Given the description of an element on the screen output the (x, y) to click on. 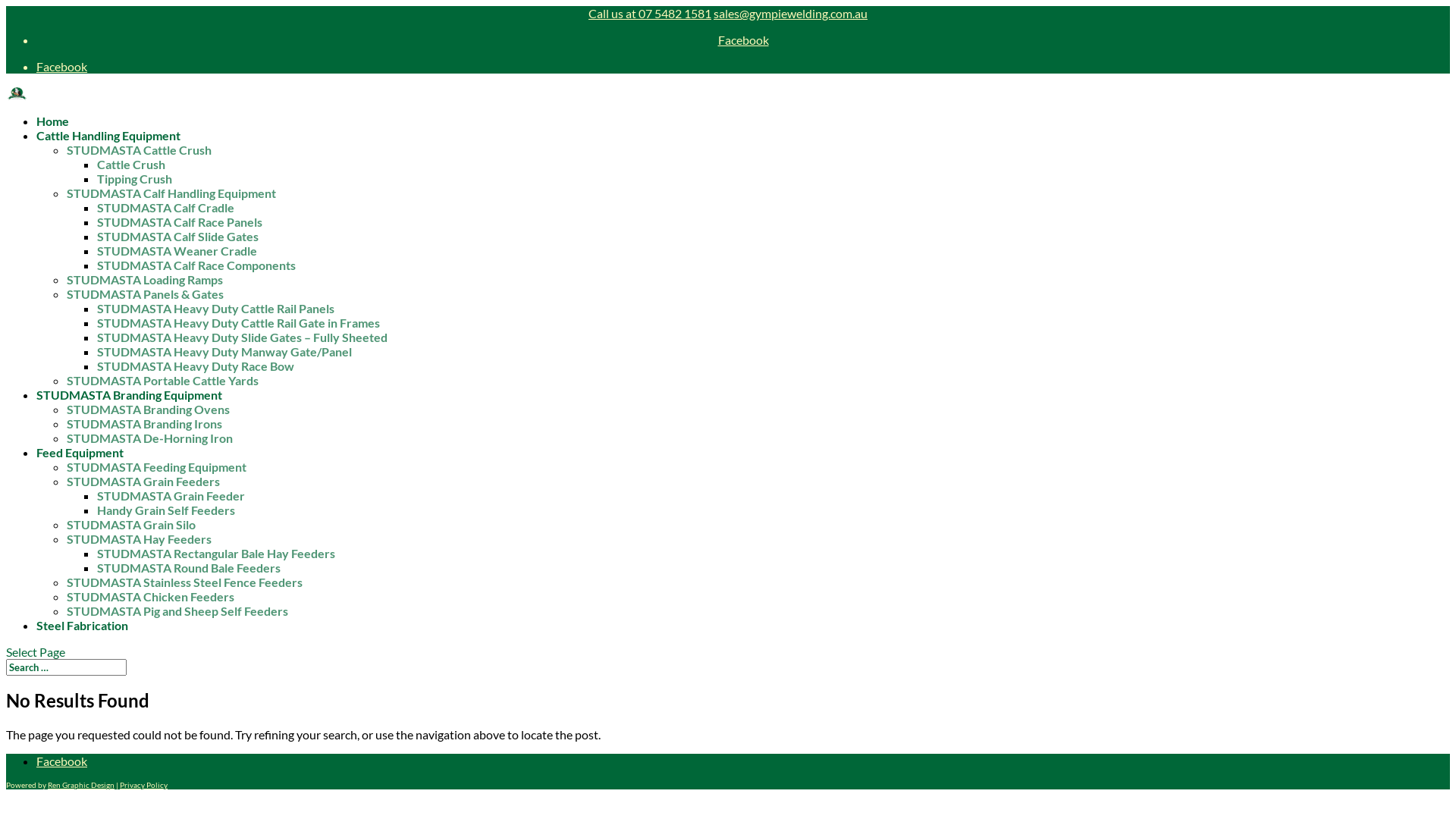
STUDMASTA Feeding Equipment Element type: text (156, 466)
Steel Fabrication Element type: text (82, 633)
Feed Equipment Element type: text (79, 460)
STUDMASTA Loading Ramps Element type: text (144, 279)
Ren Graphic Design Element type: text (80, 784)
STUDMASTA Grain Feeders Element type: text (142, 480)
STUDMASTA Heavy Duty Race Bow Element type: text (195, 365)
STUDMASTA Chicken Feeders Element type: text (150, 596)
STUDMASTA Portable Cattle Yards Element type: text (162, 380)
STUDMASTA Panels & Gates Element type: text (144, 293)
STUDMASTA Calf Race Components Element type: text (196, 264)
STUDMASTA Heavy Duty Cattle Rail Gate in Frames Element type: text (238, 322)
STUDMASTA Calf Slide Gates Element type: text (177, 236)
Privacy Policy Element type: text (143, 784)
Facebook Element type: text (61, 66)
Search for: Element type: hover (66, 666)
STUDMASTA De-Horning Iron Element type: text (149, 437)
STUDMASTA Calf Race Panels Element type: text (179, 221)
Home Element type: text (52, 128)
sales@gympiewelding.com.au Element type: text (790, 13)
Facebook Element type: text (61, 760)
STUDMASTA Pig and Sheep Self Feeders Element type: text (177, 610)
STUDMASTA Stainless Steel Fence Feeders Element type: text (184, 581)
STUDMASTA Heavy Duty Cattle Rail Panels Element type: text (215, 308)
STUDMASTA Rectangular Bale Hay Feeders Element type: text (216, 553)
STUDMASTA Grain Silo Element type: text (130, 524)
STUDMASTA Calf Cradle Element type: text (165, 207)
Cattle Crush Element type: text (131, 163)
STUDMASTA Heavy Duty Manway Gate/Panel Element type: text (224, 351)
Cattle Handling Equipment Element type: text (108, 143)
STUDMASTA Branding Ovens Element type: text (147, 408)
STUDMASTA Grain Feeder Element type: text (170, 495)
STUDMASTA Round Bale Feeders Element type: text (188, 567)
STUDMASTA Cattle Crush Element type: text (138, 149)
STUDMASTA Calf Handling Equipment Element type: text (171, 192)
Facebook Element type: text (742, 39)
Call us at 07 5482 1581 Element type: text (649, 13)
Tipping Crush Element type: text (134, 178)
STUDMASTA Branding Irons Element type: text (144, 423)
STUDMASTA Branding Equipment Element type: text (129, 402)
STUDMASTA Hay Feeders Element type: text (138, 538)
Handy Grain Self Feeders Element type: text (166, 509)
STUDMASTA Weaner Cradle Element type: text (177, 250)
